Given the description of an element on the screen output the (x, y) to click on. 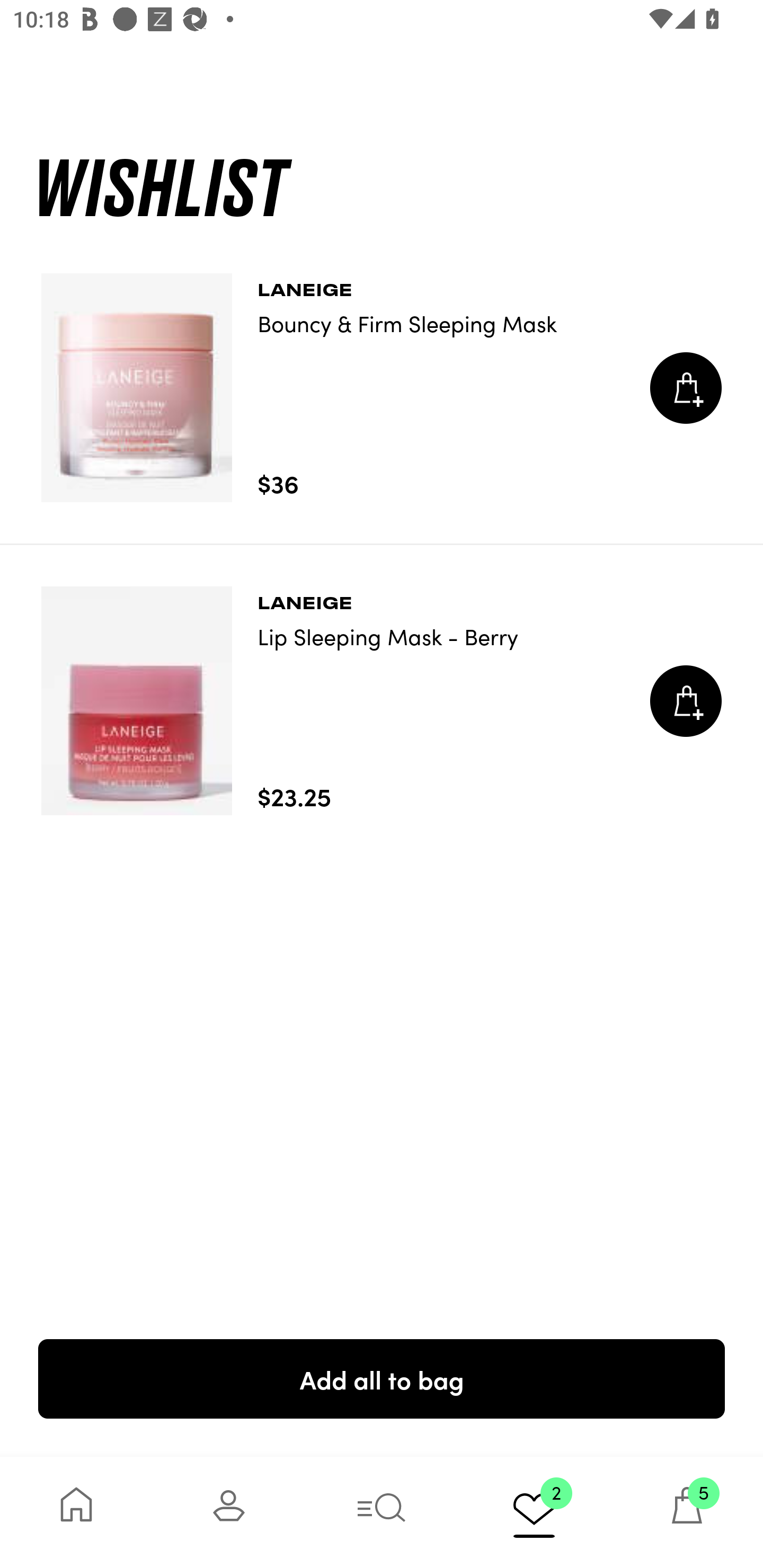
LANEIGE Bouncy & Firm Sleeping Mask $36 (381, 388)
LANEIGE Lip Sleeping Mask - Berry $23.25 (381, 700)
Add all to bag (381, 1379)
2 (533, 1512)
5 (686, 1512)
